Given the description of an element on the screen output the (x, y) to click on. 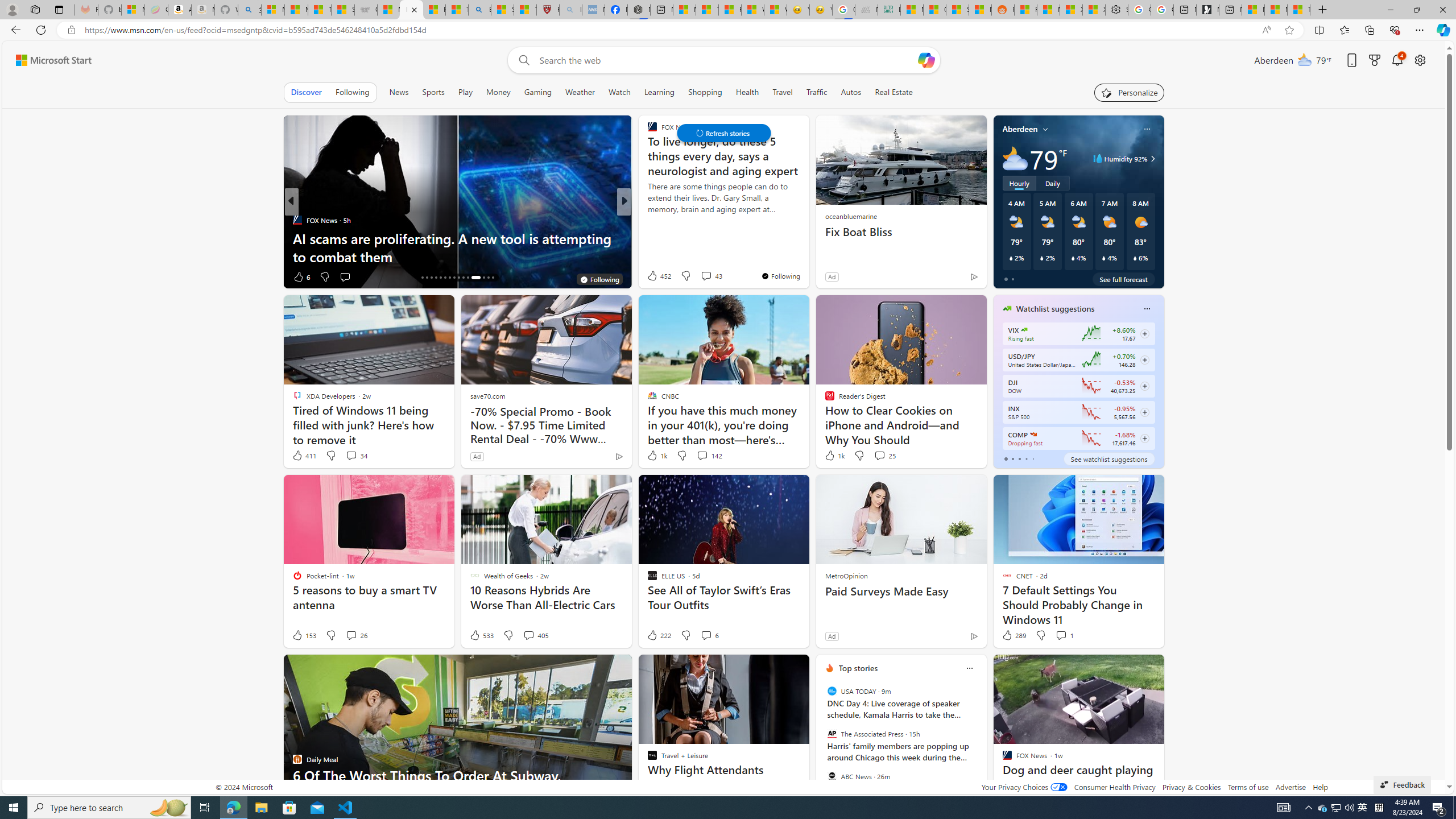
AutomationID: tab-27 (475, 277)
Class: follow-button  m (1144, 438)
